Given the description of an element on the screen output the (x, y) to click on. 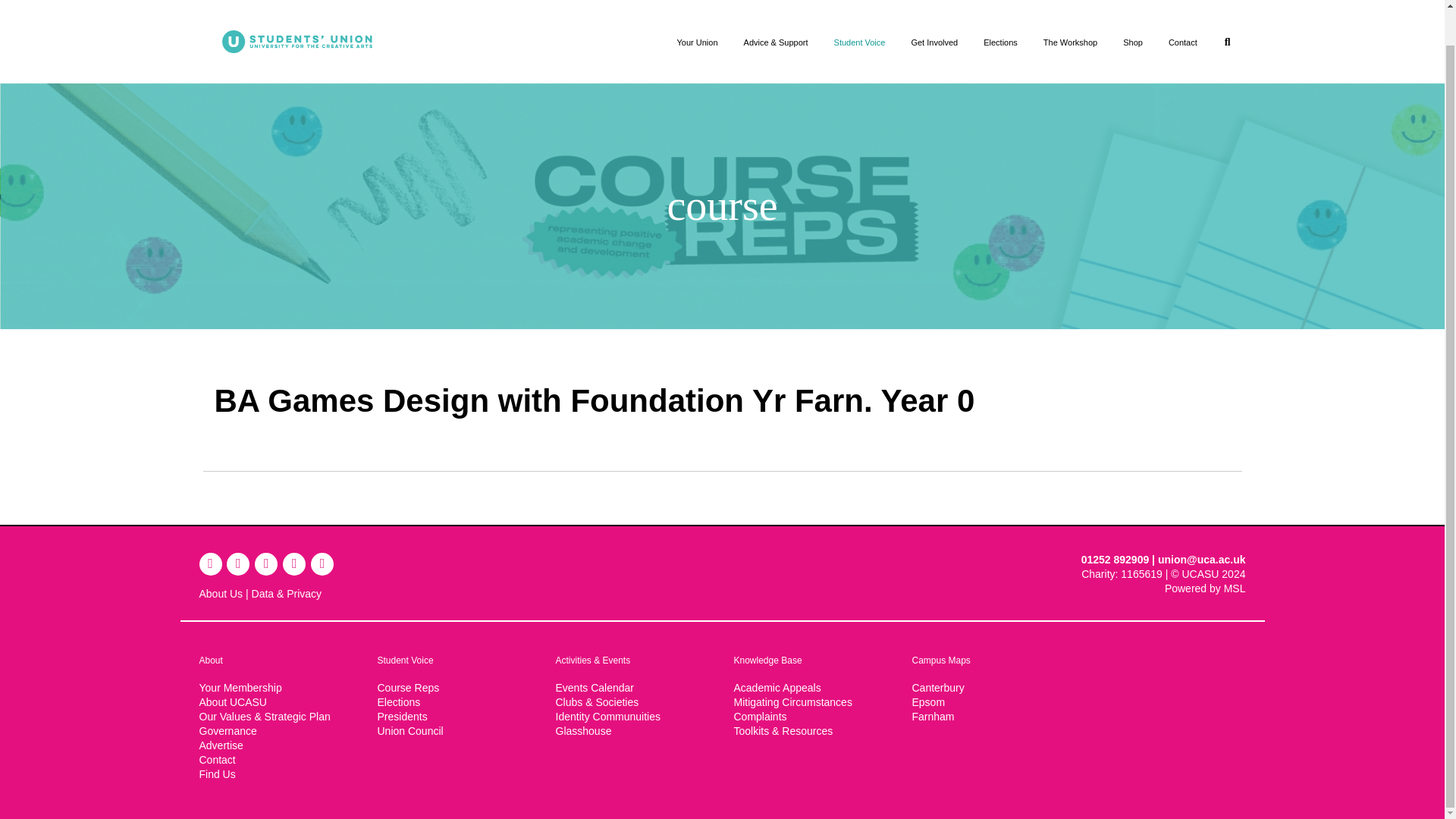
Elections (1000, 42)
Your Union (696, 42)
Get Involved (934, 42)
Student Voice (859, 42)
